Given the description of an element on the screen output the (x, y) to click on. 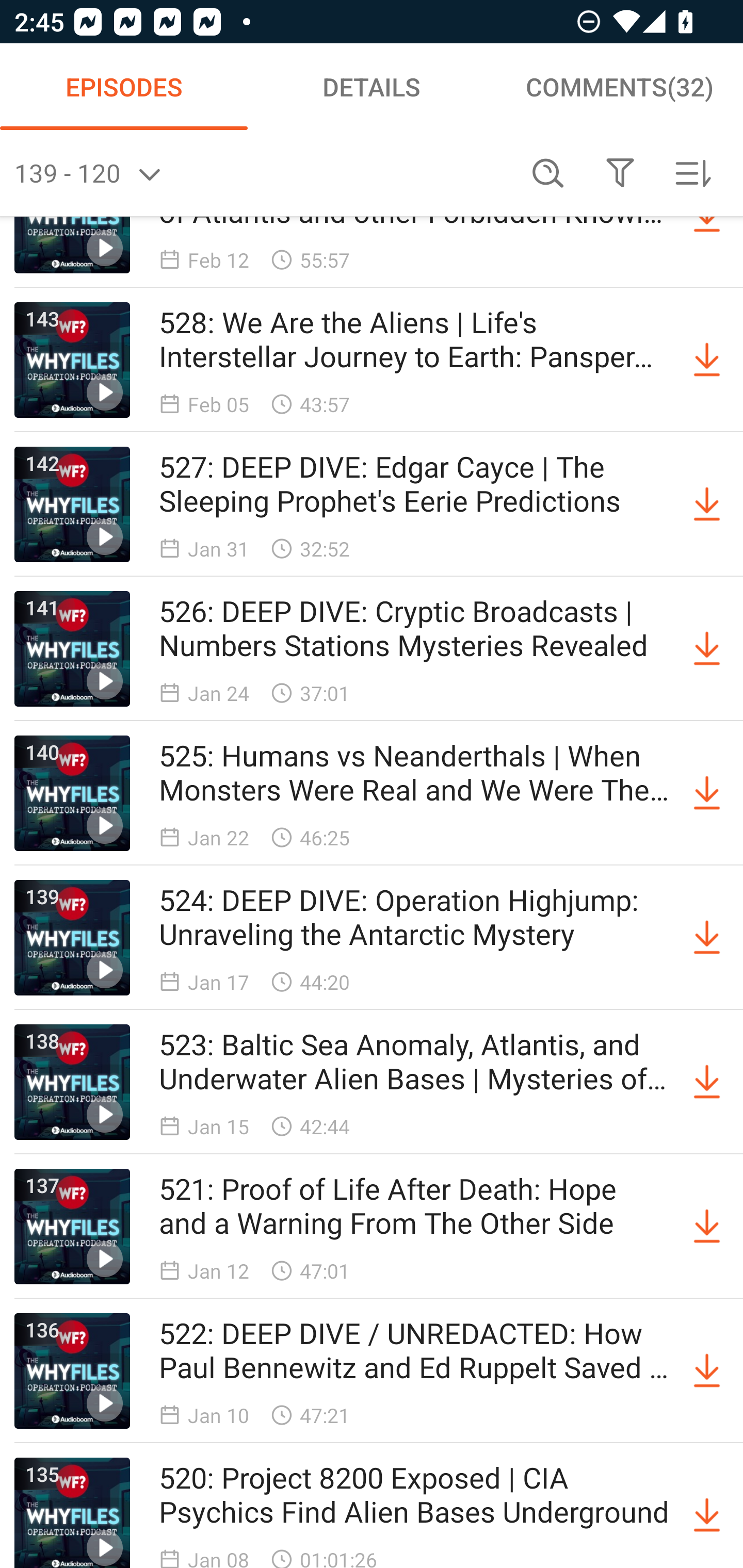
DETAILS (371, 86)
COMMENTS(32) (619, 86)
139 - 120  (262, 173)
 Search (547, 173)
 (619, 173)
 Sorted by newest first (692, 173)
Download (706, 359)
Download (706, 504)
Download (706, 649)
Download (706, 793)
Download (706, 937)
Download (706, 1081)
Download (706, 1226)
Download (706, 1370)
Download (706, 1513)
